Given the description of an element on the screen output the (x, y) to click on. 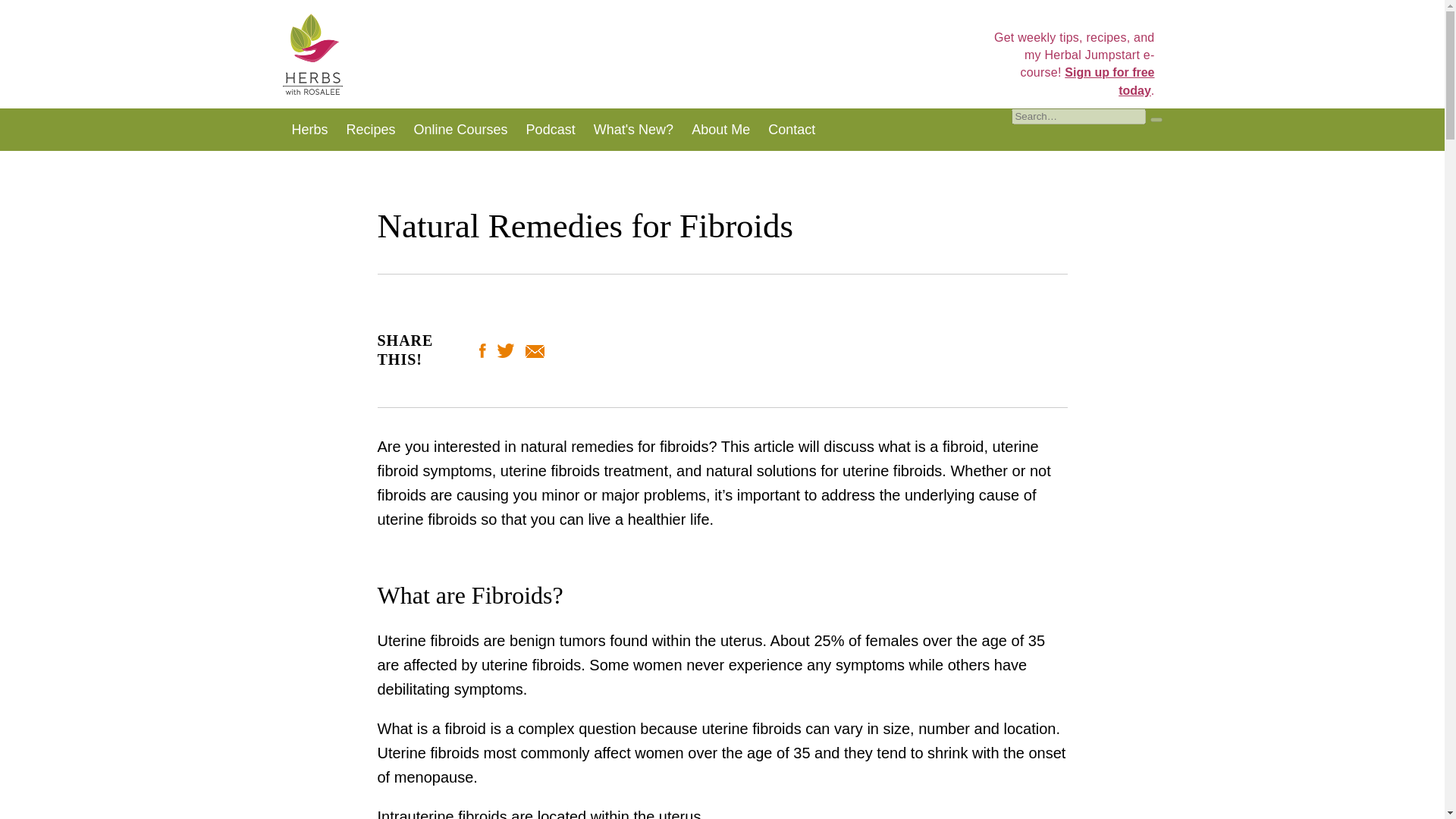
About Me (720, 129)
Podcast (550, 129)
Sign up for free today (1109, 81)
Contact (791, 129)
Email (534, 352)
Tweet (505, 352)
Online Courses (460, 129)
What's New? (633, 129)
Recipes (370, 129)
Herbs (309, 129)
